Given the description of an element on the screen output the (x, y) to click on. 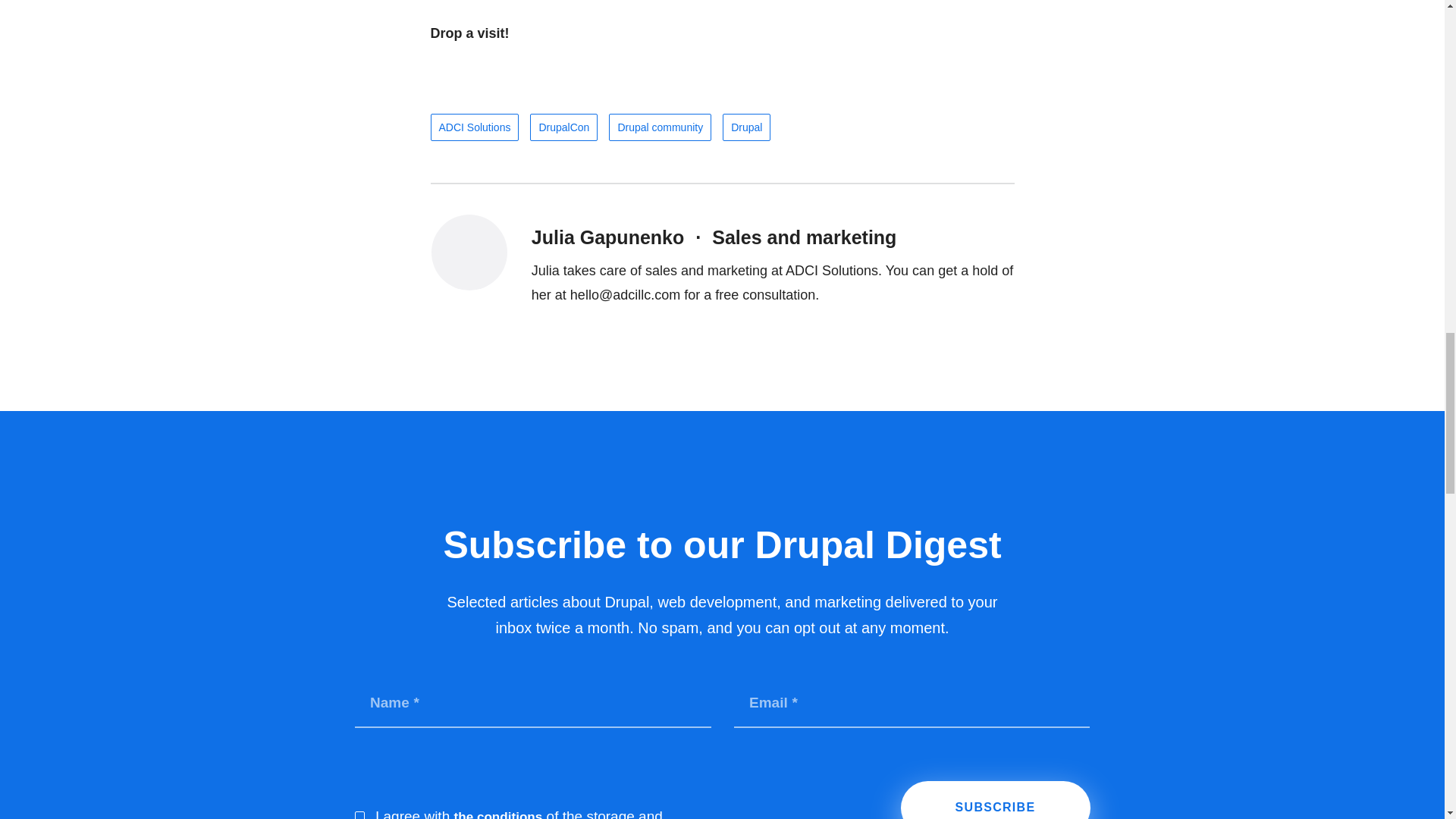
Drupal (746, 126)
SUBSCRIBE (995, 800)
ADCI Solutions (474, 126)
Twitter (936, 121)
DrupalCon (562, 126)
Drupal community (659, 126)
the conditions (496, 814)
LinkedIn (1005, 120)
